Given the description of an element on the screen output the (x, y) to click on. 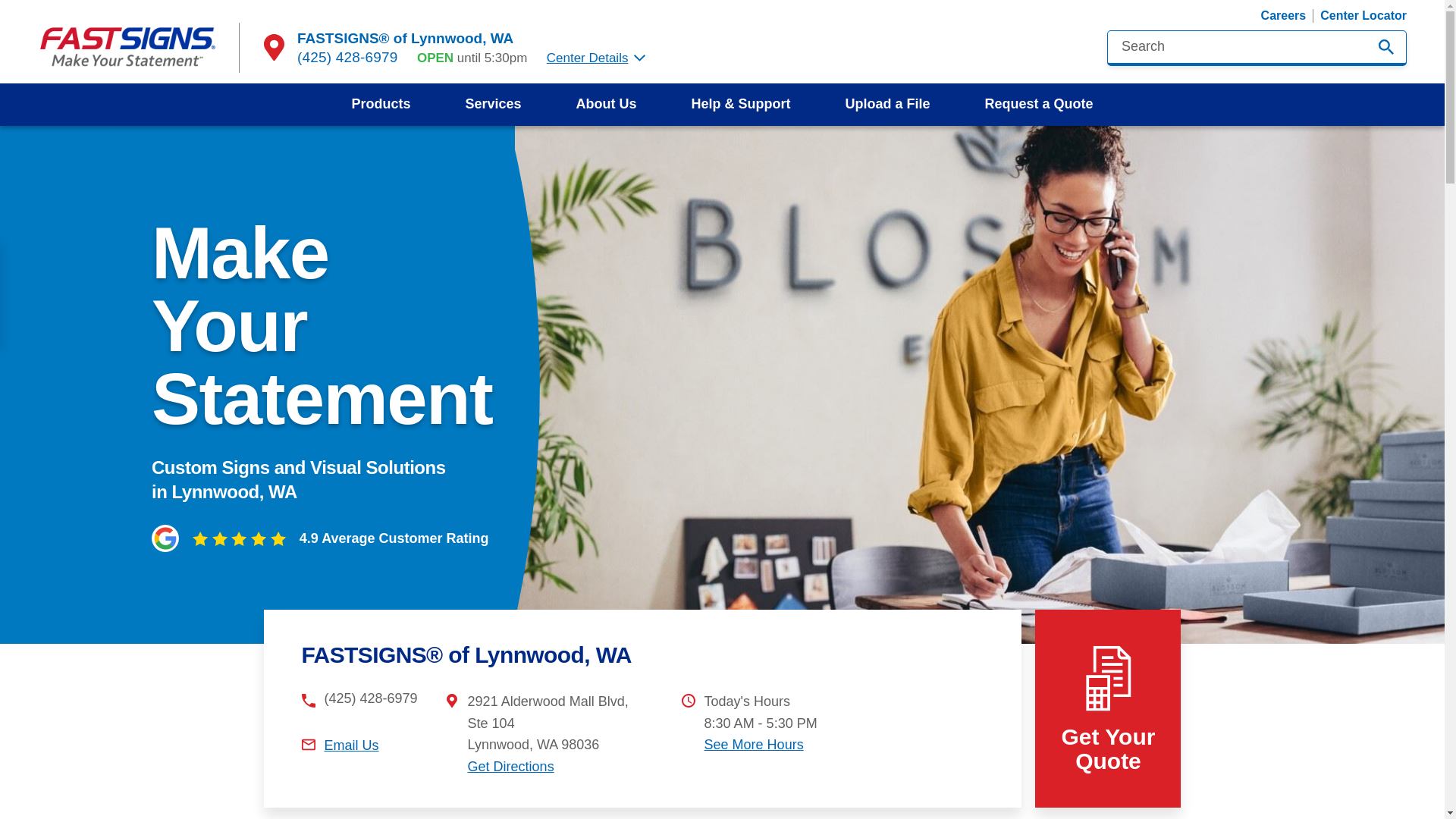
View Google Reviews (238, 538)
Center Details (596, 58)
Center Locator (1363, 15)
Careers (1283, 15)
View Google Reviews (320, 538)
